Given the description of an element on the screen output the (x, y) to click on. 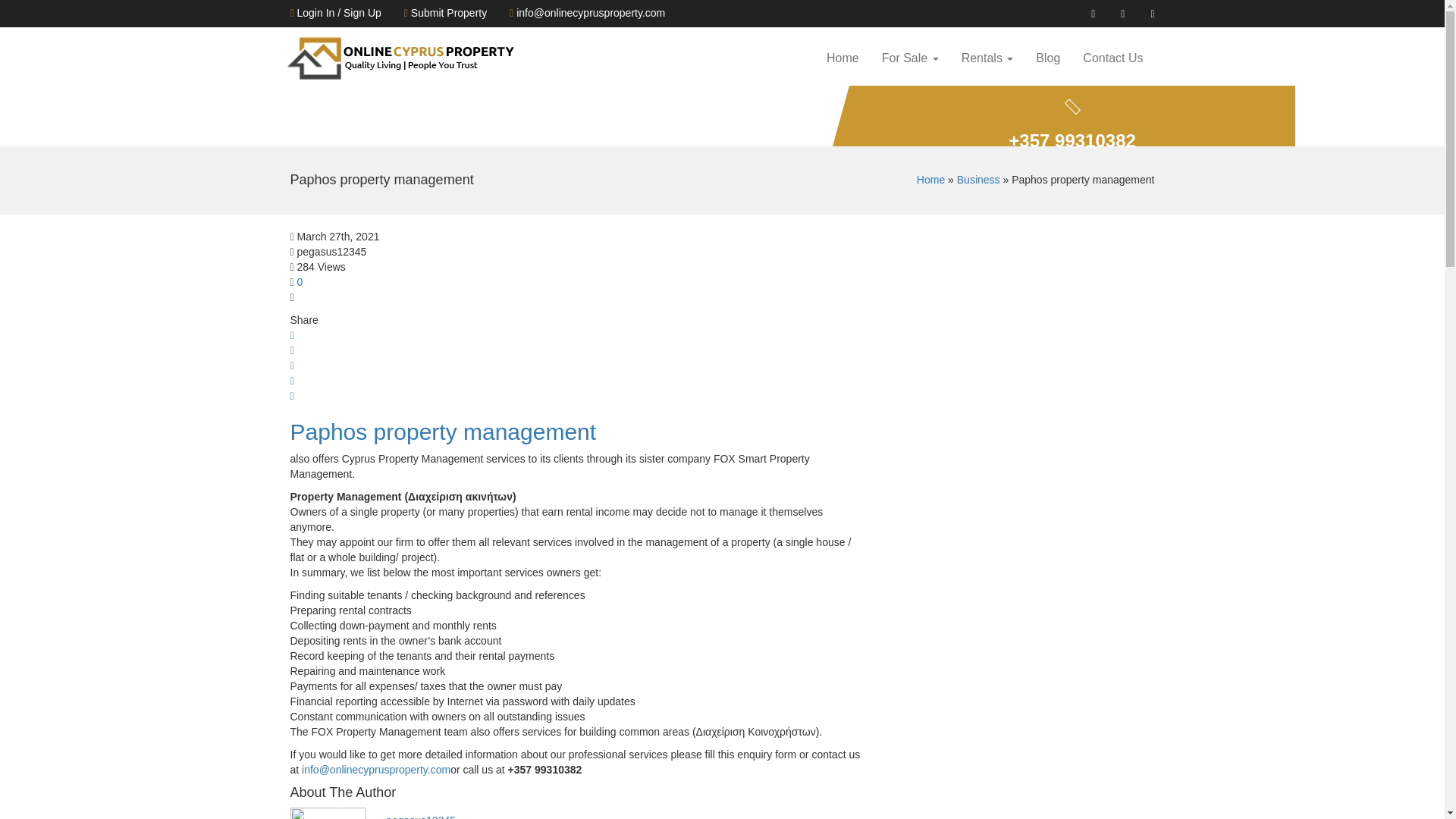
Submit Property (445, 13)
For Sale (910, 58)
Paphos property management  (445, 431)
pegasus12345 (420, 816)
Contact Us (1112, 58)
For Sale (910, 58)
Contact Us (1112, 58)
Home (842, 58)
Business (978, 179)
Home (842, 58)
Rentals (987, 58)
Home (930, 179)
Rentals (987, 58)
Online Cyprus Property (399, 58)
